Given the description of an element on the screen output the (x, y) to click on. 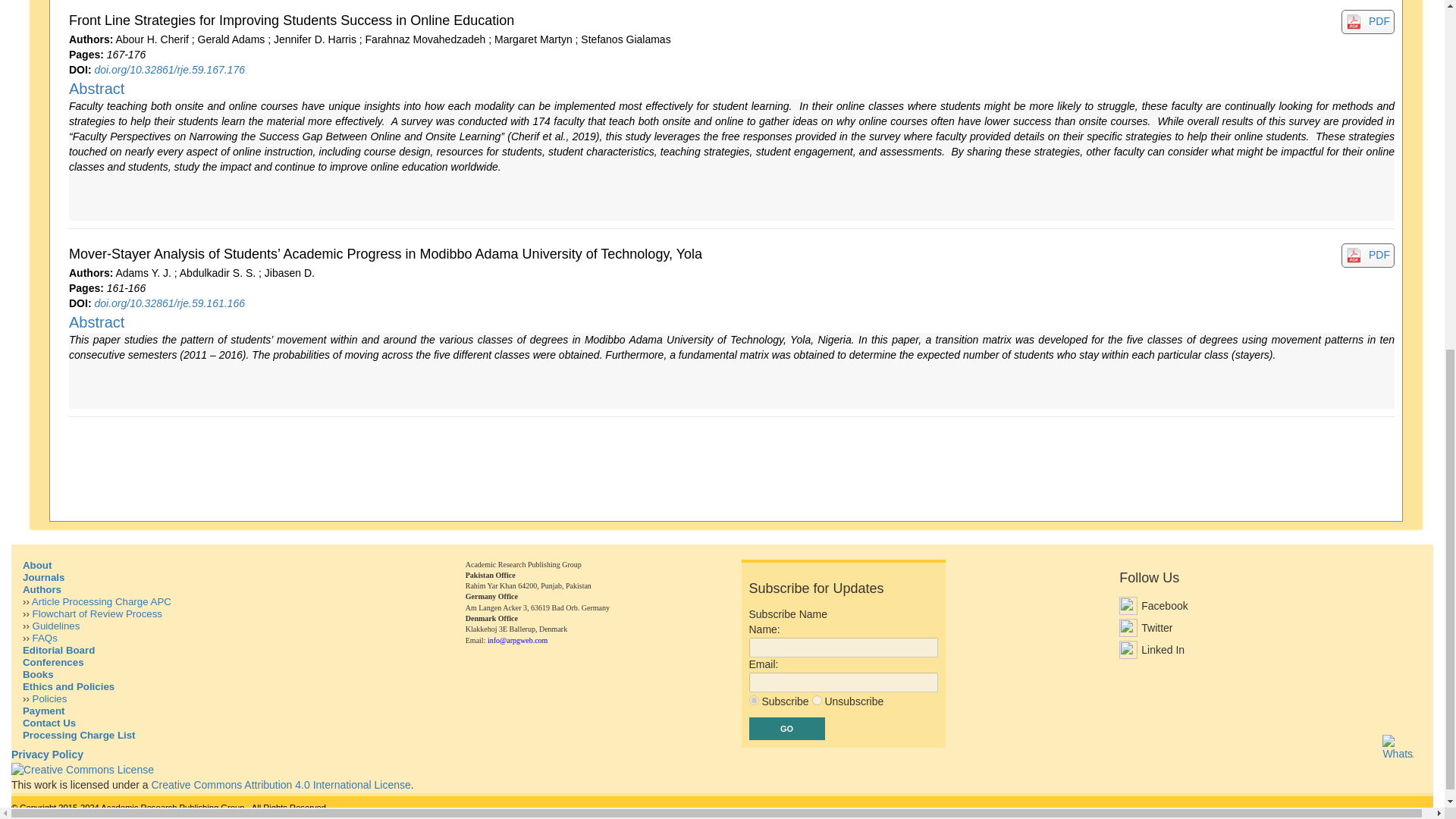
PDF (1379, 254)
GO (787, 728)
About (36, 564)
Journals (43, 577)
Abstract (95, 88)
Abstract (95, 321)
PDF (1379, 21)
0 (817, 700)
1 (753, 700)
